Given the description of an element on the screen output the (x, y) to click on. 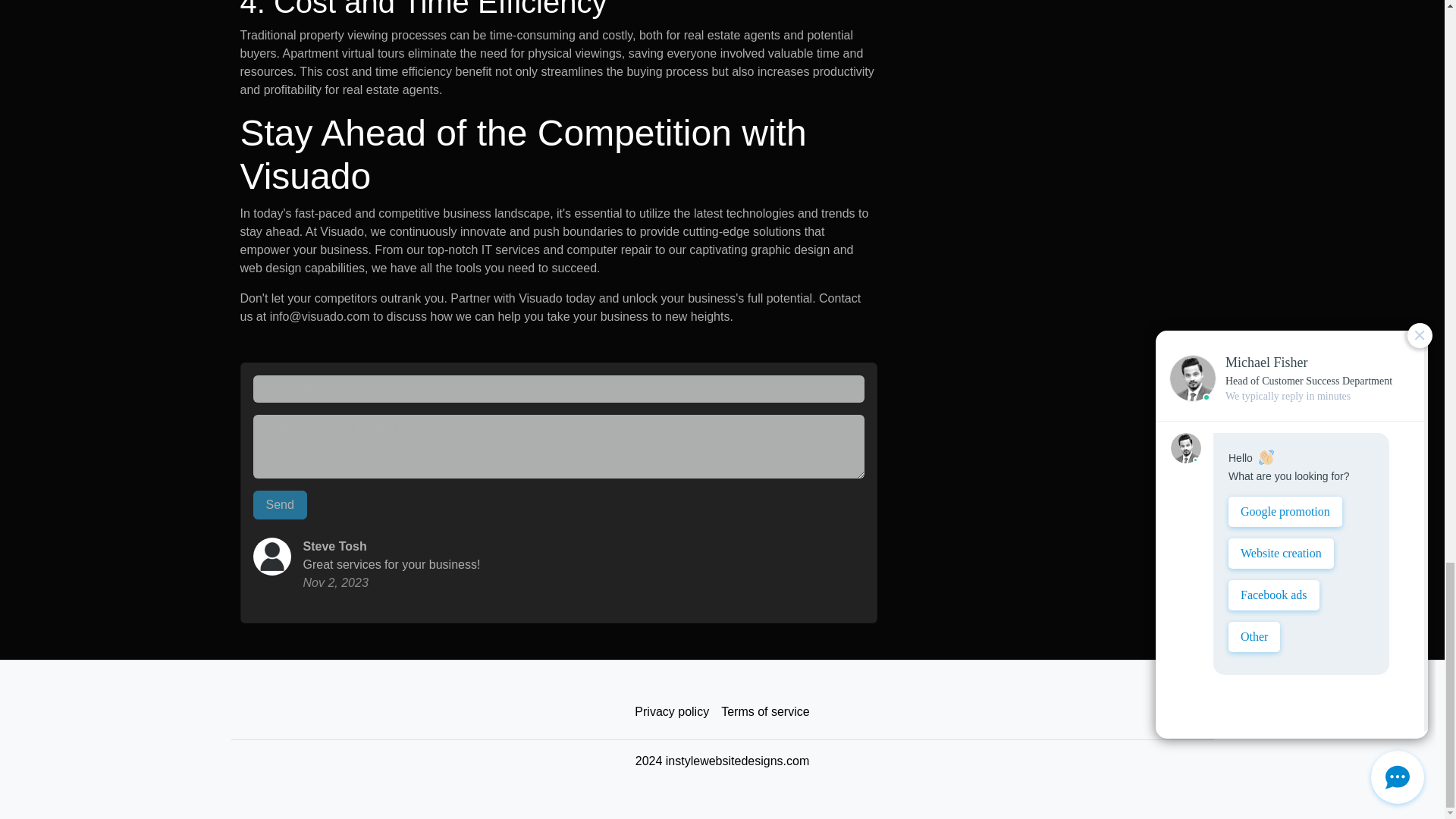
Send (280, 504)
Send (280, 504)
Terms of service (764, 711)
Privacy policy (671, 711)
